Given the description of an element on the screen output the (x, y) to click on. 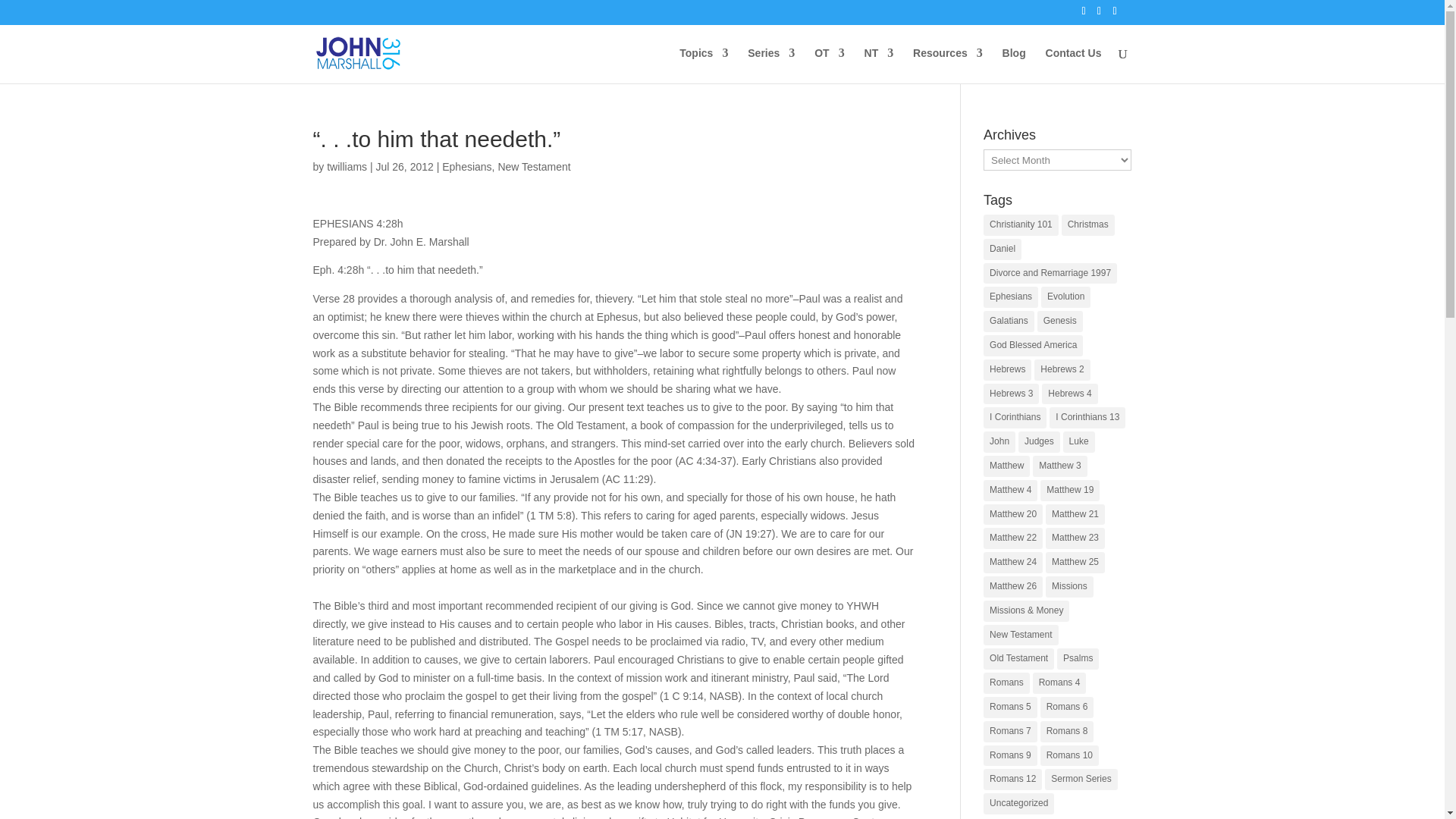
Contact Us (1073, 65)
Resources (947, 65)
New Testament (533, 166)
Topics (703, 65)
Ephesians (467, 166)
Posts by twilliams (346, 166)
Series (771, 65)
twilliams (346, 166)
